Given the description of an element on the screen output the (x, y) to click on. 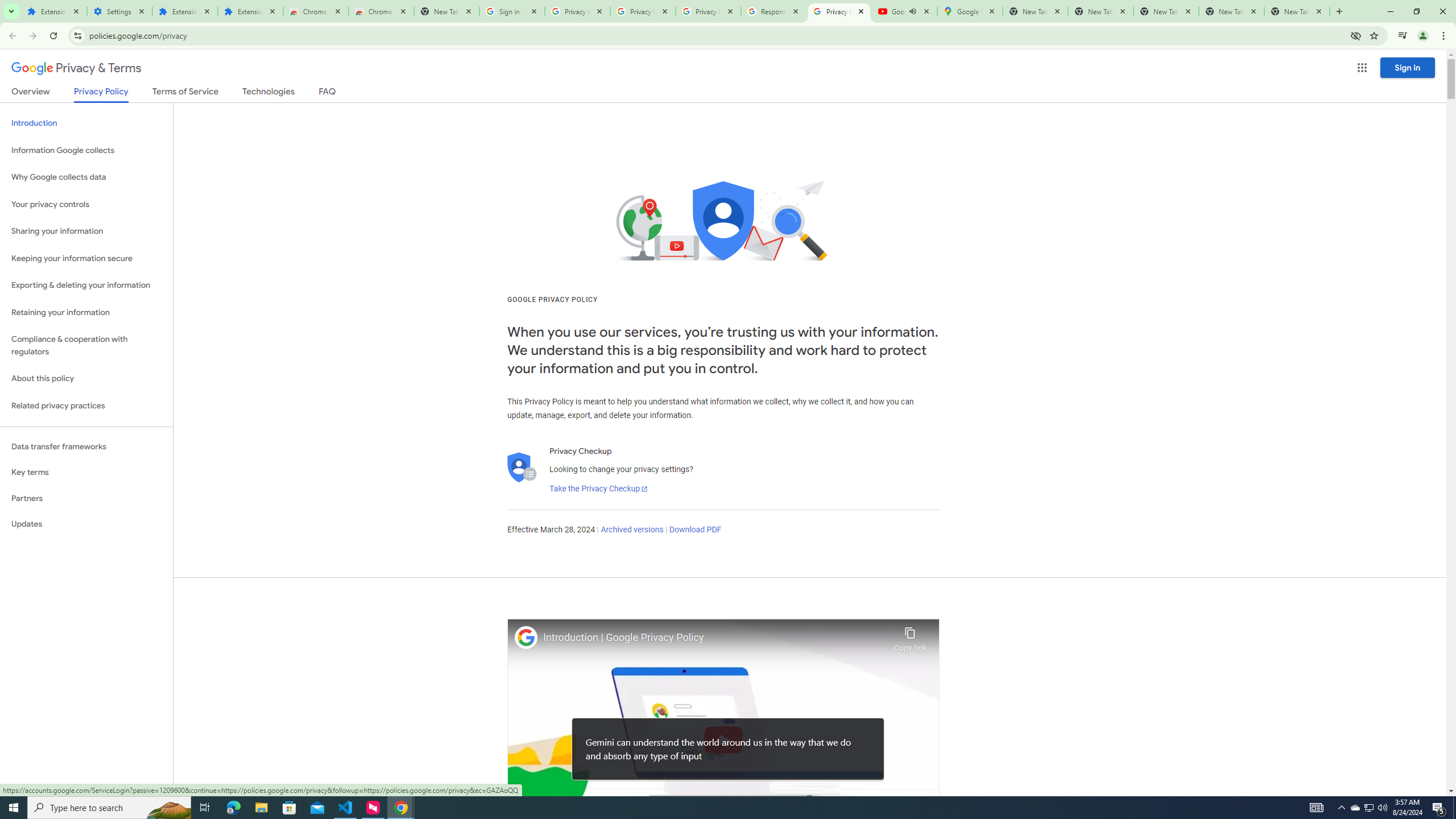
Why Google collects data (86, 176)
Mute tab (912, 10)
New Tab (1297, 11)
Extensions (184, 11)
Privacy & Terms (76, 68)
